Given the description of an element on the screen output the (x, y) to click on. 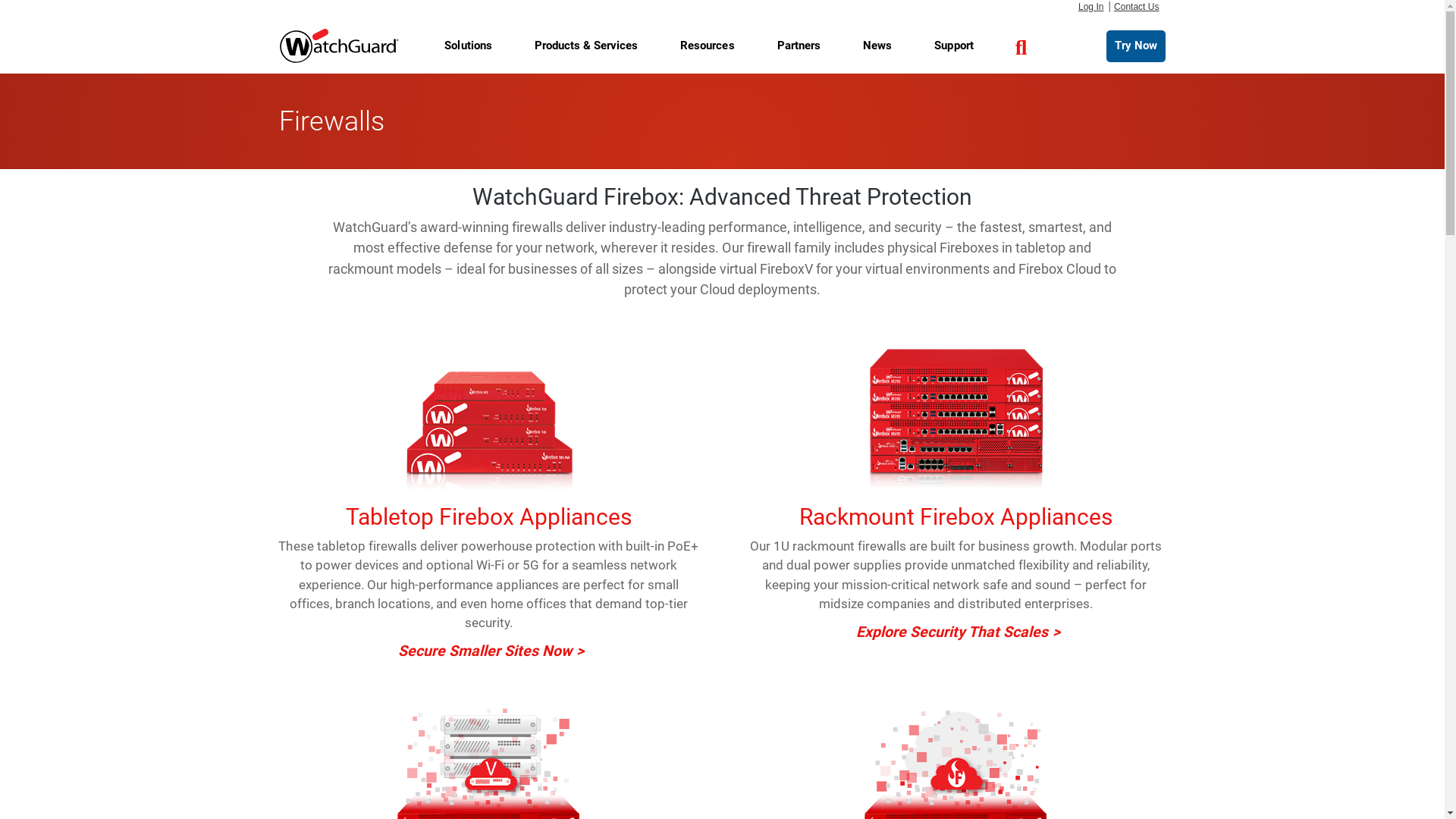
Solutions (467, 45)
Contact Us (1135, 6)
Log In (1090, 6)
